Given the description of an element on the screen output the (x, y) to click on. 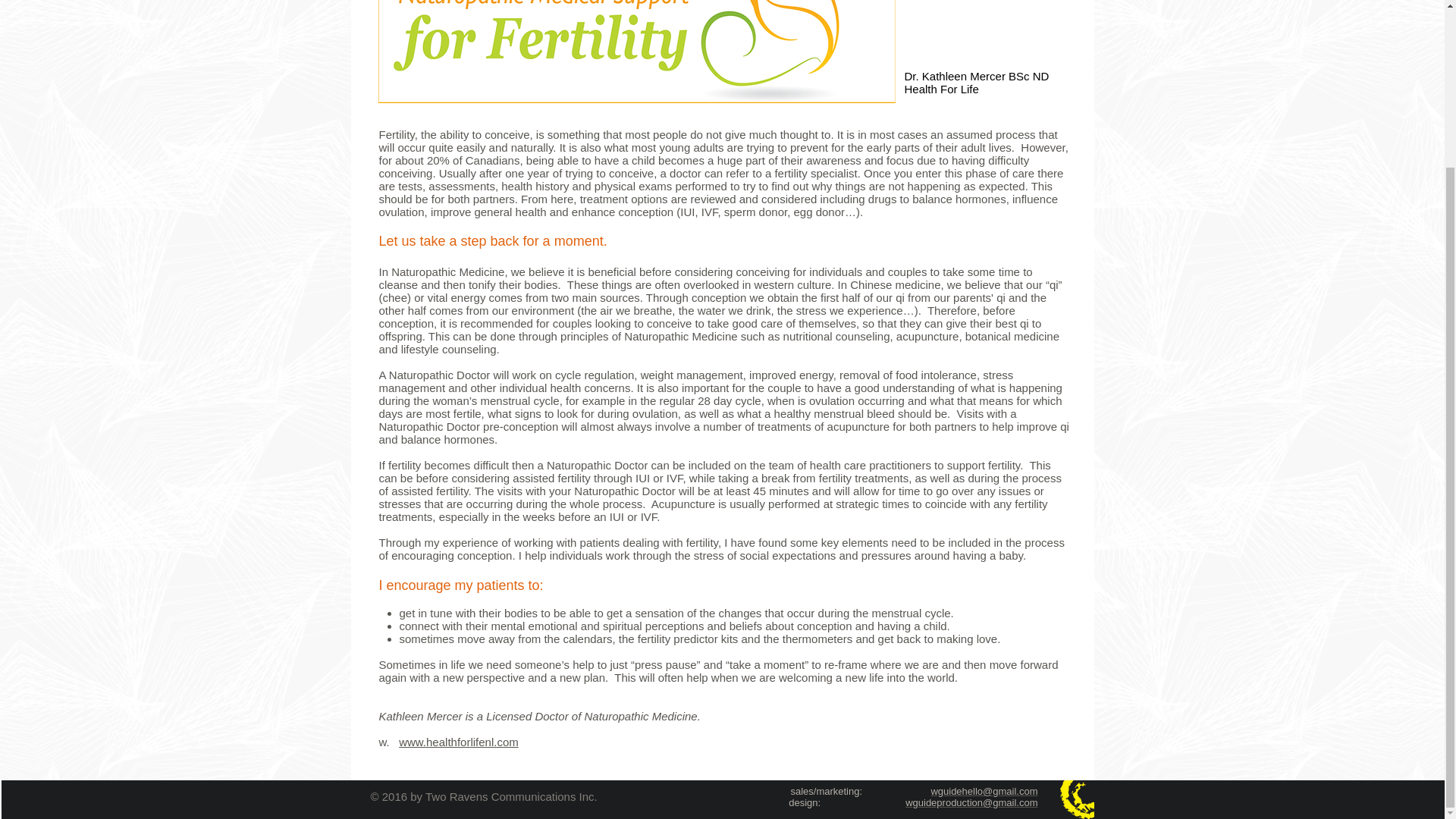
www.healthforlifenl.com (458, 741)
